Given the description of an element on the screen output the (x, y) to click on. 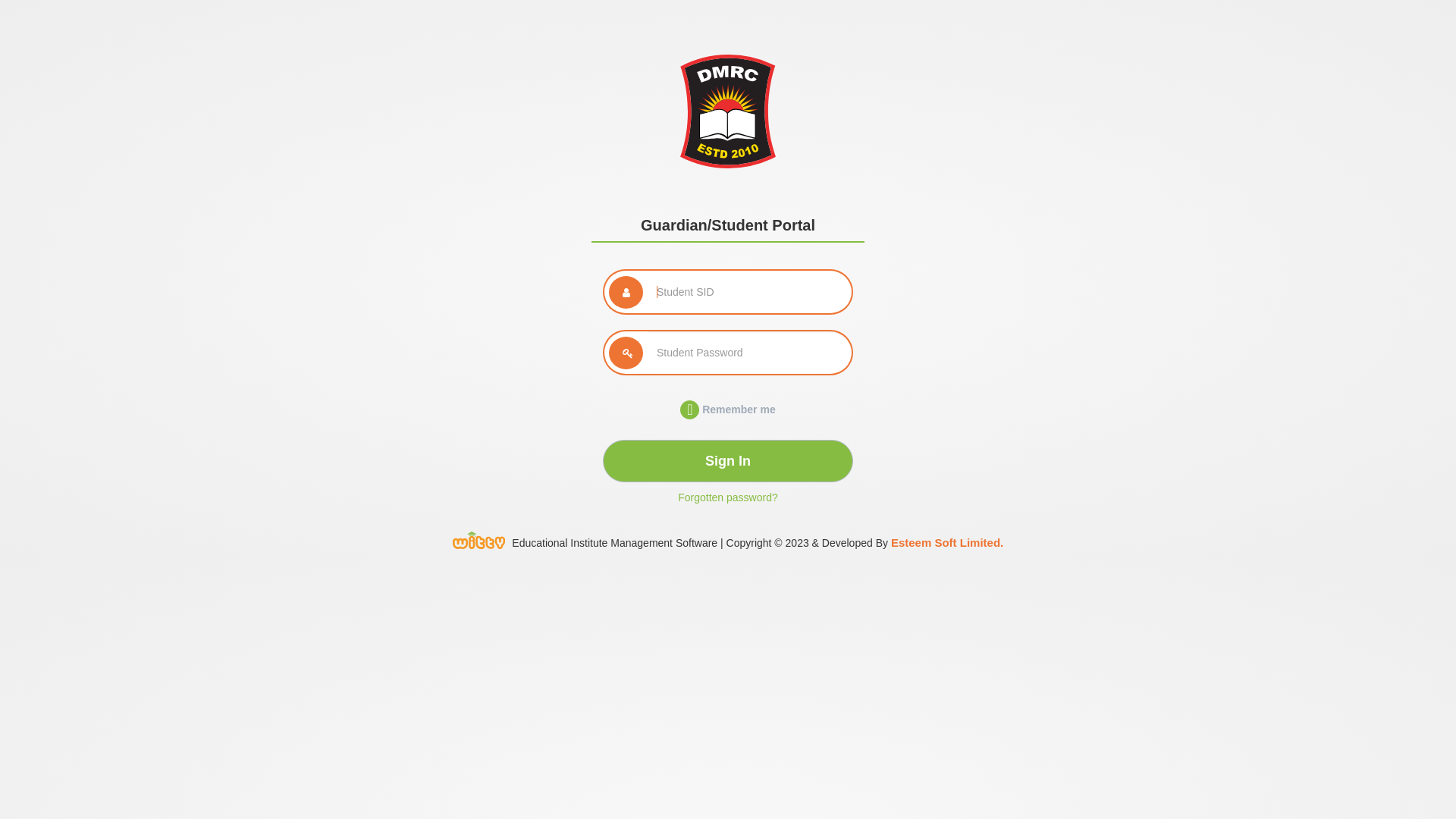
Forgotten password? Element type: text (727, 497)
Sign In Element type: text (727, 460)
Esteem Soft Limited. Element type: text (947, 542)
